Given the description of an element on the screen output the (x, y) to click on. 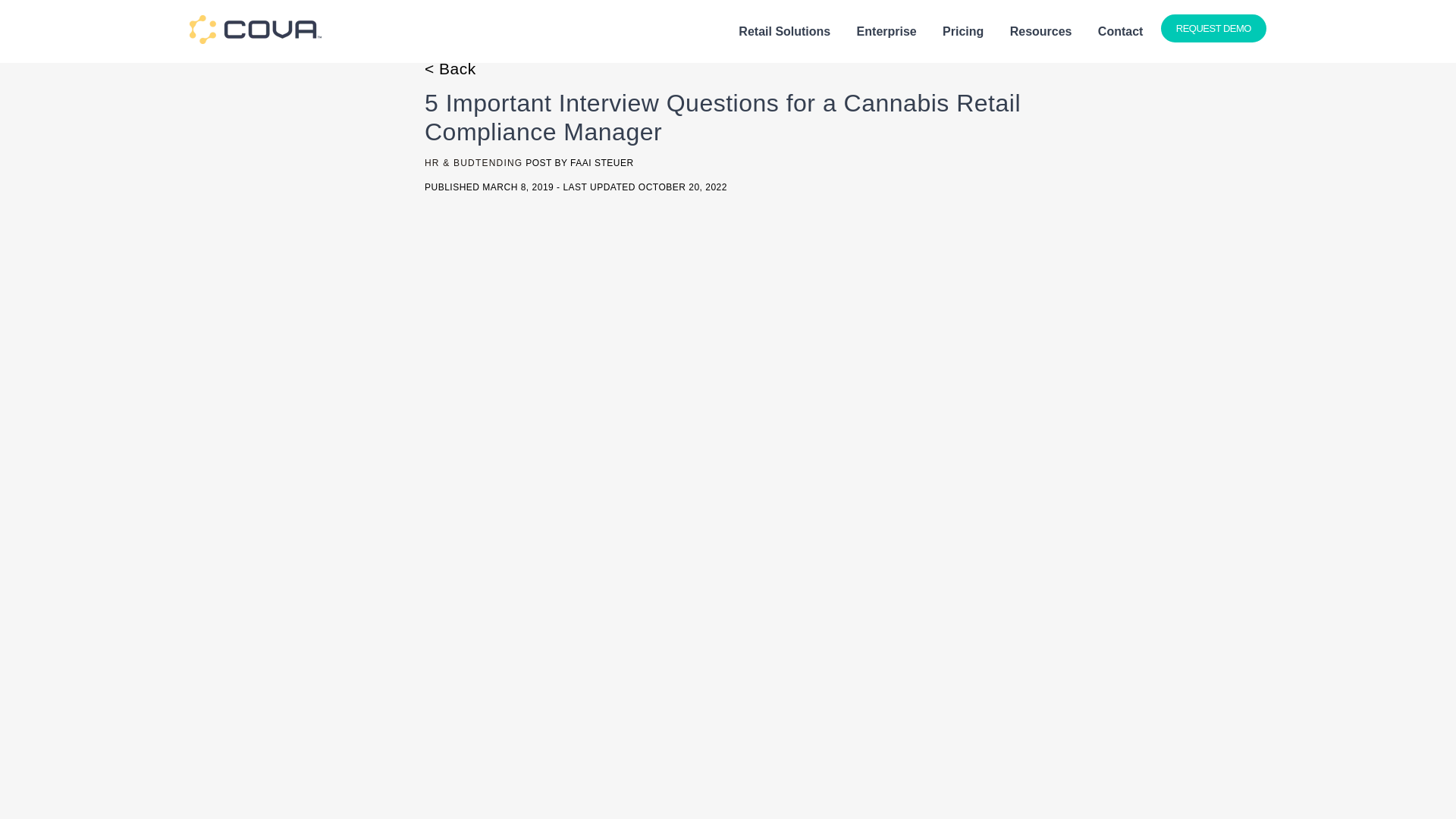
REQUEST DEMO (1213, 28)
Contact (1120, 31)
Pricing (962, 31)
Resources (1040, 31)
FAAI STEUER (601, 163)
Retail Solutions (784, 31)
Enterprise (886, 31)
